Given the description of an element on the screen output the (x, y) to click on. 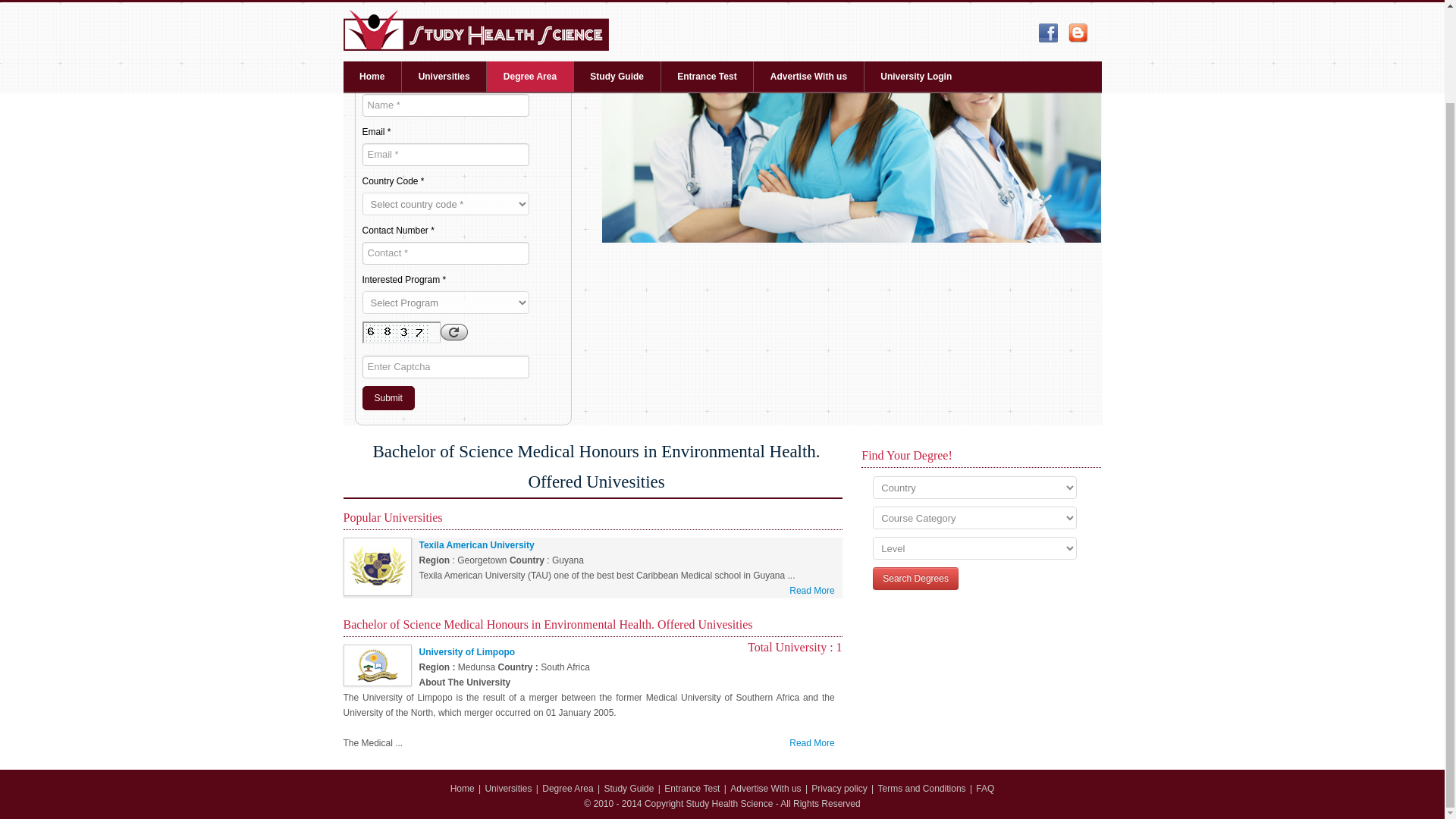
Submit (388, 397)
FAQ (984, 787)
University of Limpopo (467, 652)
Search Degrees (915, 578)
Terms and Conditions (922, 787)
Study Guide (630, 787)
Read More (811, 590)
Home (463, 787)
Advertise With us (767, 787)
Privacy policy (838, 787)
Read More (811, 743)
Degree Area (567, 787)
Universities (507, 787)
Submit (388, 397)
Texila American University (476, 544)
